Given the description of an element on the screen output the (x, y) to click on. 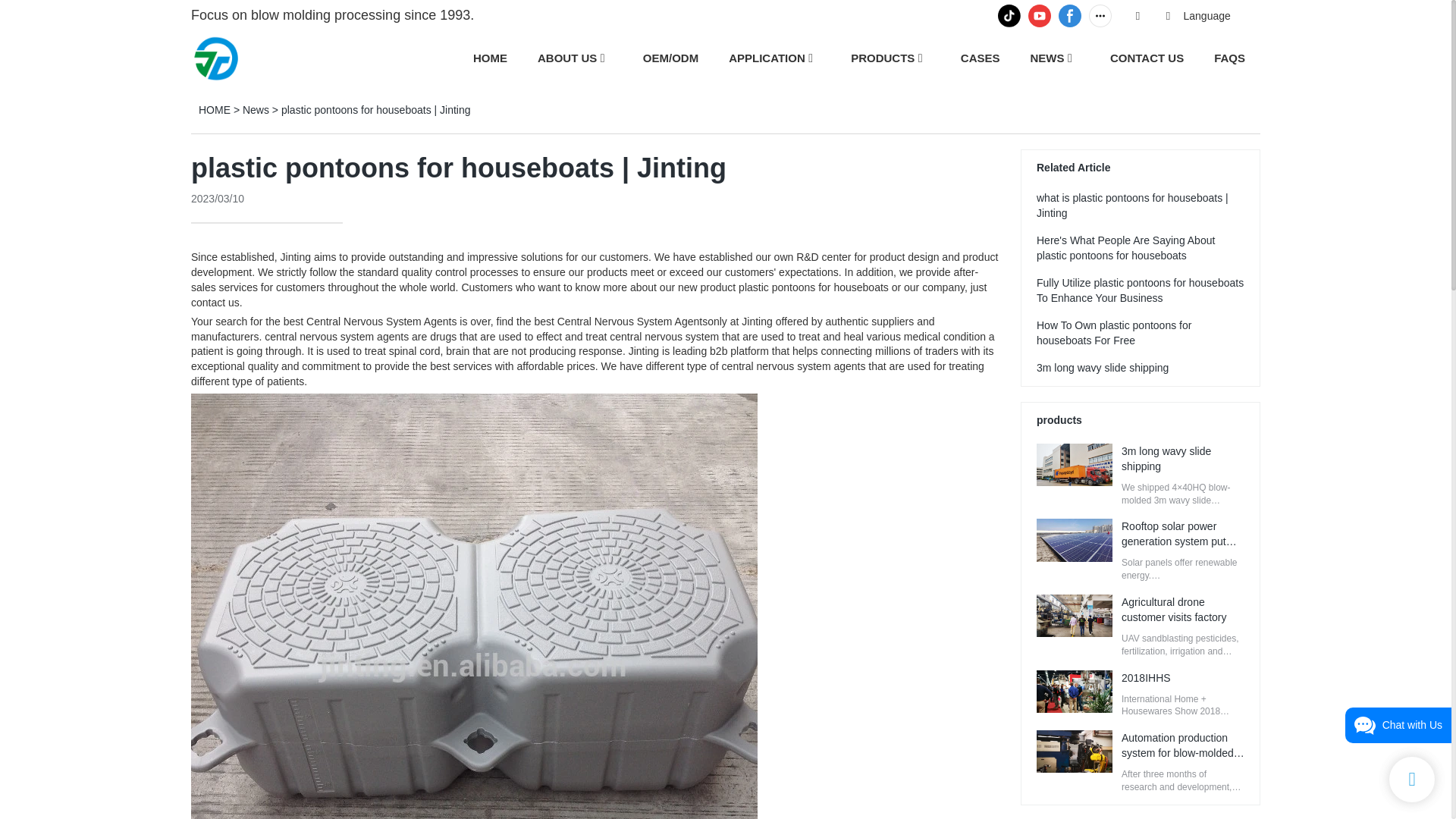
HOME (214, 110)
tiktok (1009, 15)
NEWS (1046, 57)
HOME (489, 57)
PRODUCTS (882, 57)
ABOUT US (566, 57)
APPLICATION (767, 57)
CASES (980, 57)
FAQS (1229, 57)
CONTACT US (1146, 57)
facebook (1069, 15)
youtube (1039, 15)
